Given the description of an element on the screen output the (x, y) to click on. 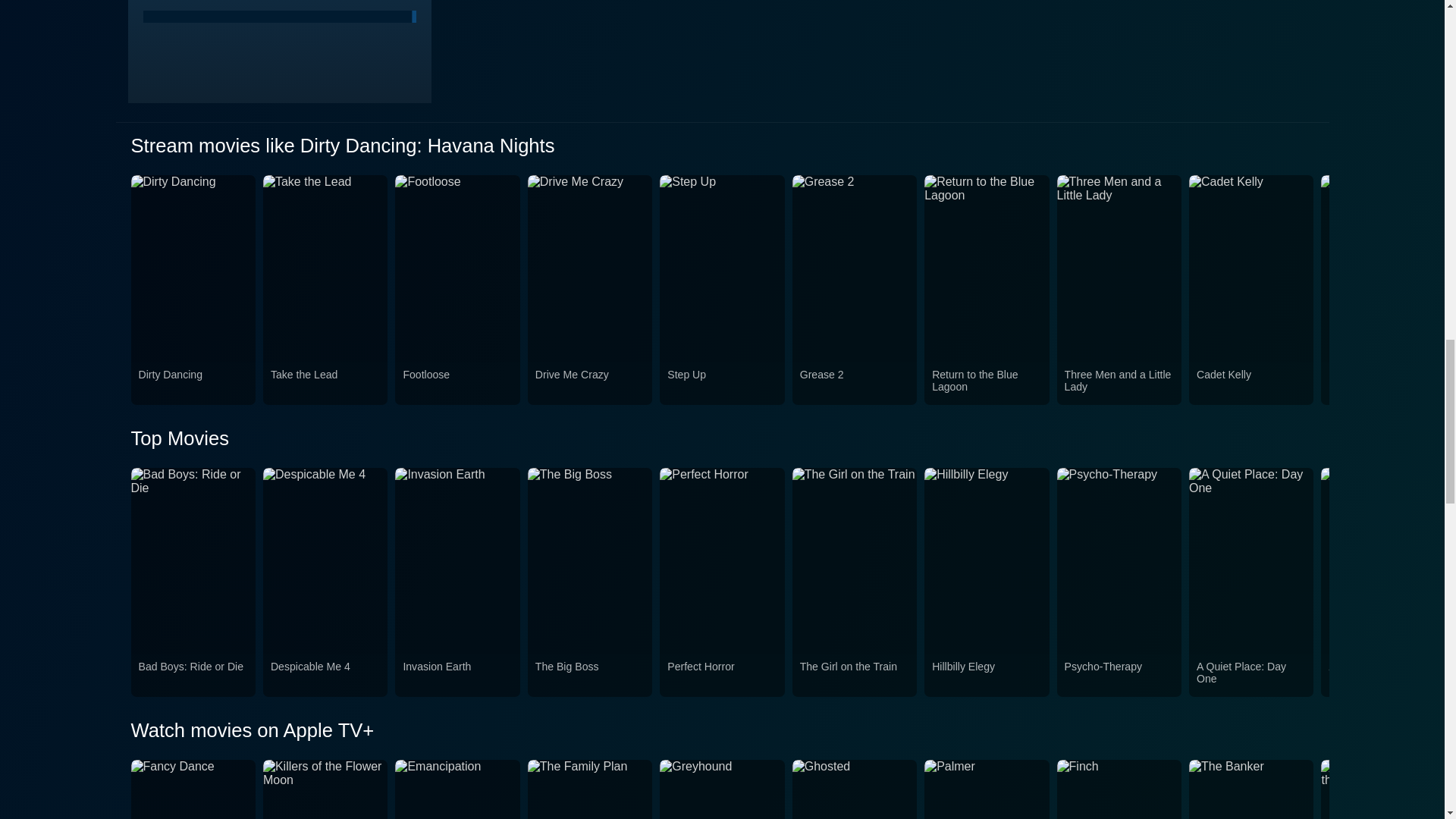
The Girl on the Train (853, 675)
Take the Lead (325, 383)
Footloose (1382, 383)
Drive Me Crazy (590, 383)
Dirty Dancing (192, 383)
Return to the Blue Lagoon (986, 383)
The Big Boss (590, 675)
Grease 2 (853, 383)
Step Up (721, 383)
Perfect Horror (721, 675)
Despicable Me 4 (325, 675)
Invasion Earth (457, 675)
Footloose (457, 383)
Three Men and a Little Lady (1118, 383)
Cadet Kelly (1251, 383)
